Given the description of an element on the screen output the (x, y) to click on. 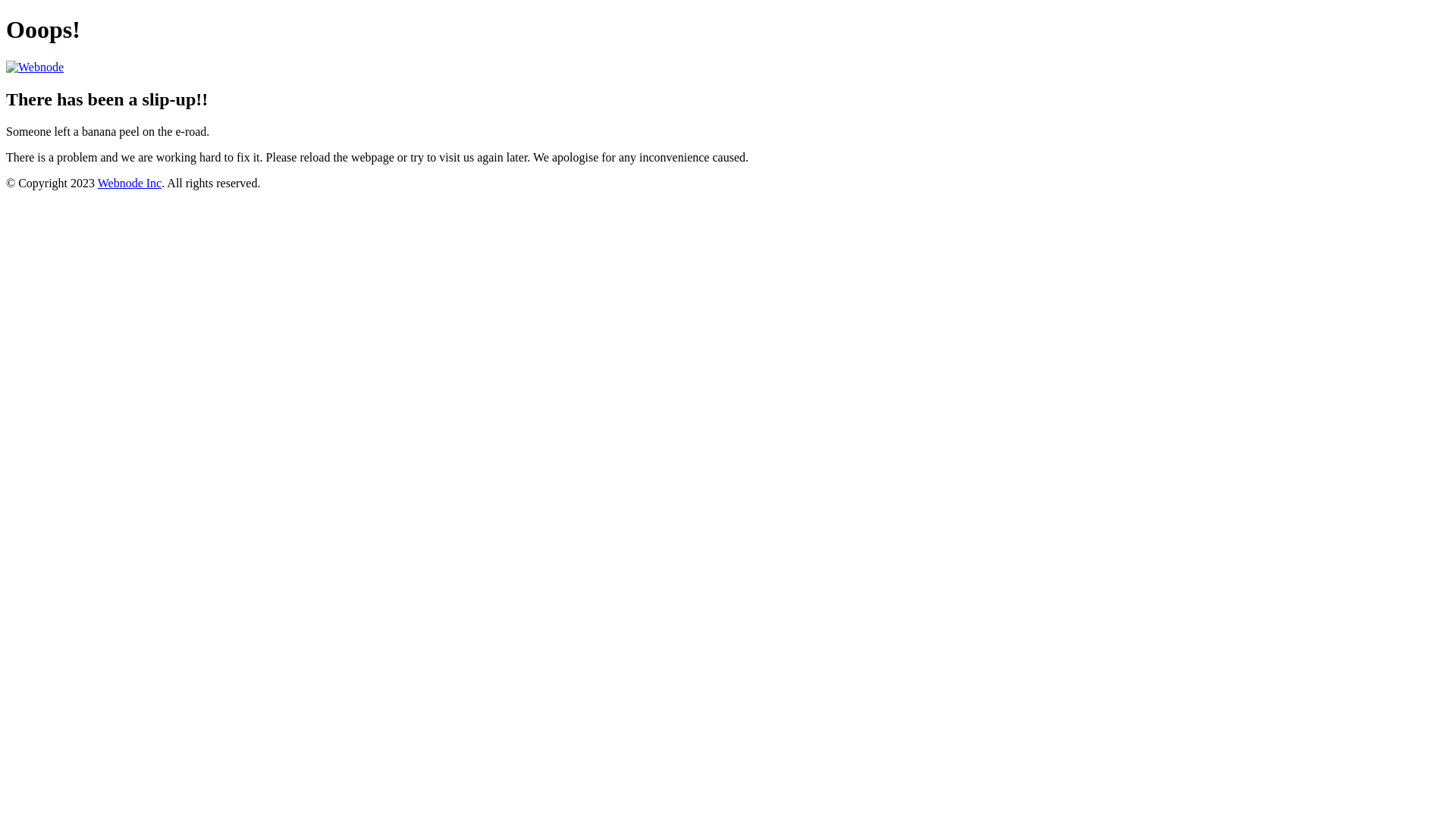
Webnode Inc Element type: text (129, 182)
